Given the description of an element on the screen output the (x, y) to click on. 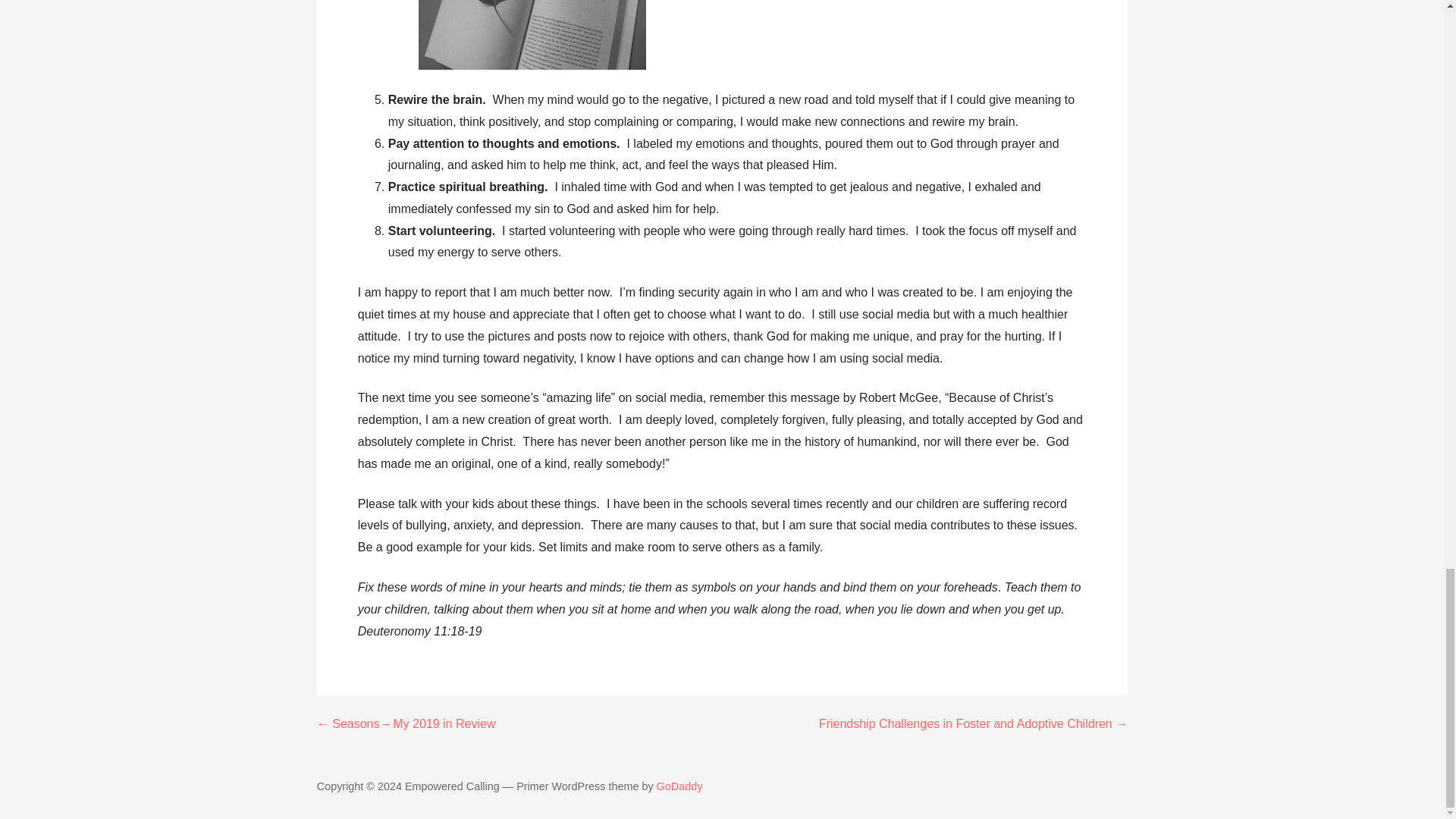
GoDaddy (679, 786)
